Given the description of an element on the screen output the (x, y) to click on. 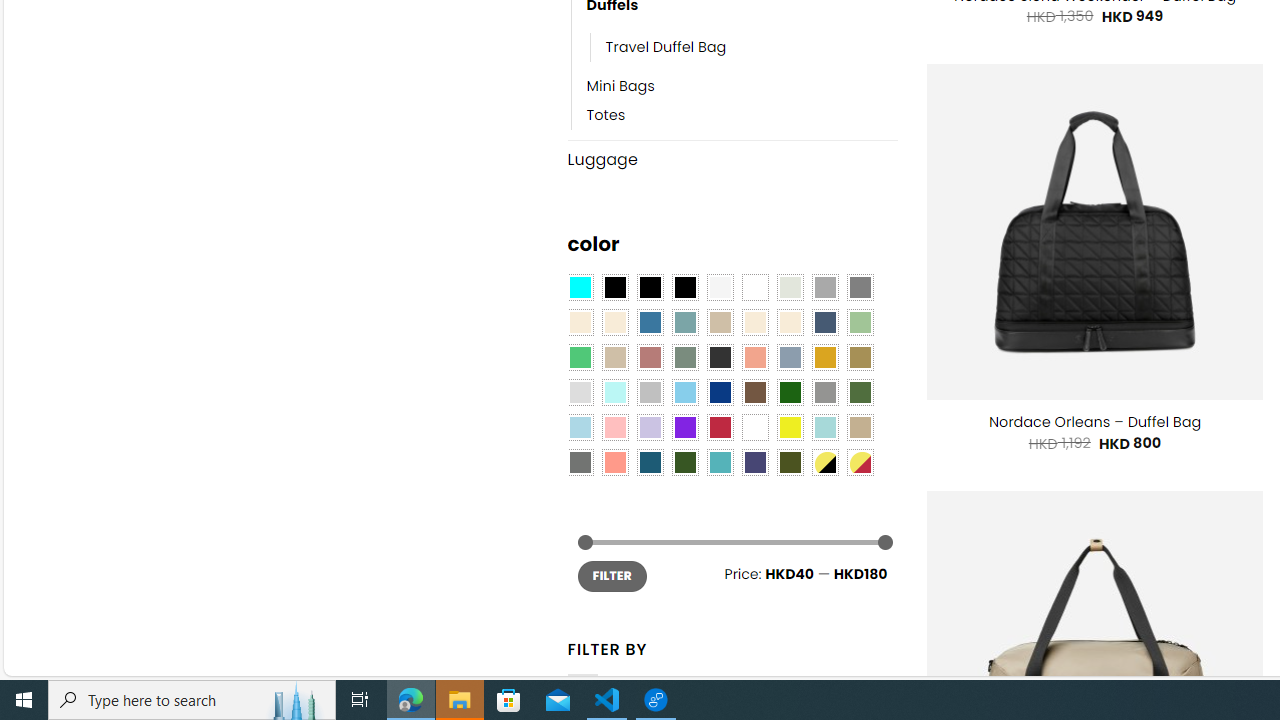
Emerald Green (579, 357)
White (755, 427)
Dark Green (789, 393)
Khaki (859, 427)
Beige-Brown (614, 323)
